Given the description of an element on the screen output the (x, y) to click on. 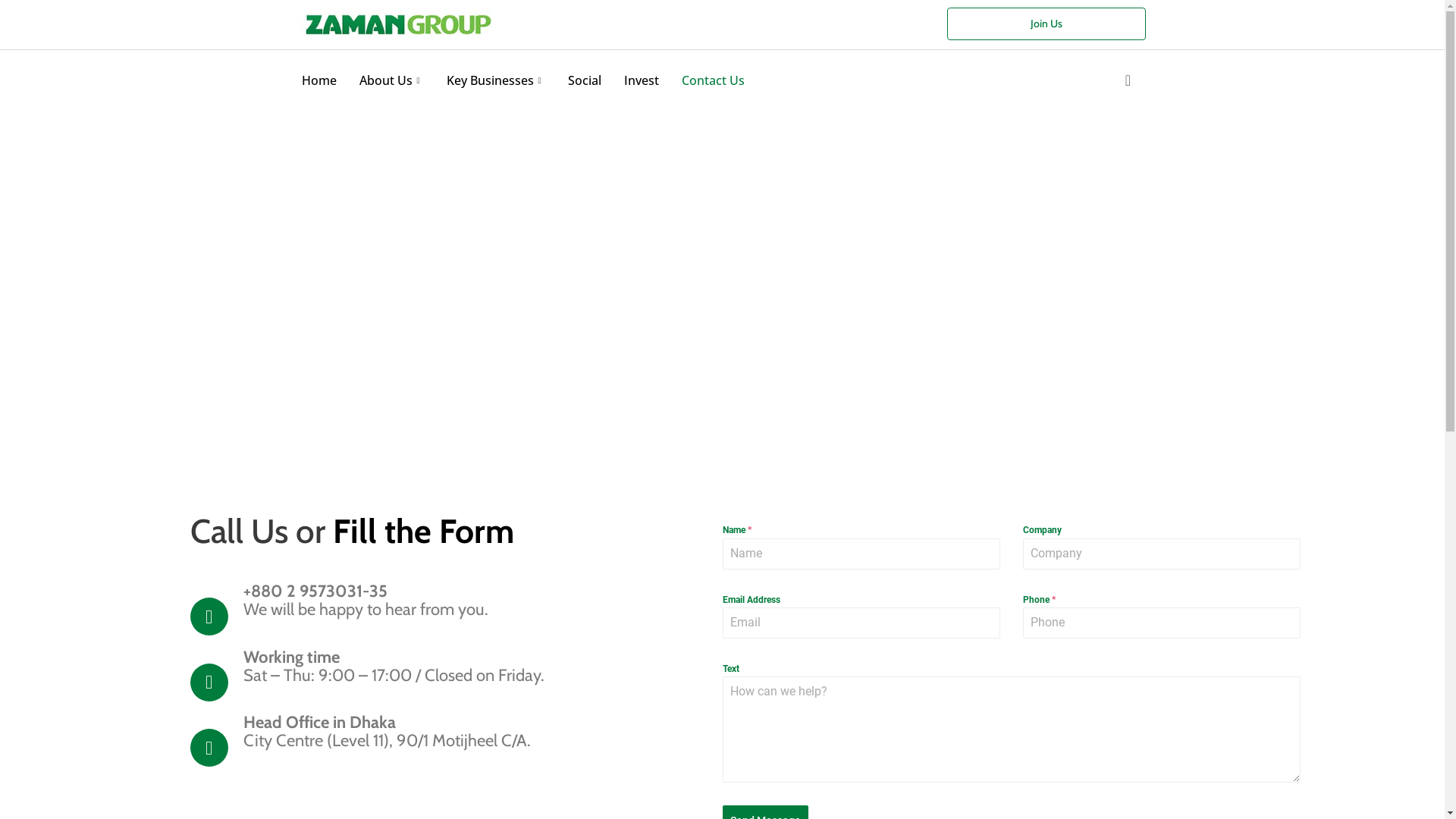
Read More Element type: text (757, 508)
Social Element type: text (584, 80)
Invest Element type: text (641, 80)
Contact Us Element type: text (713, 80)
Join Us Element type: text (1046, 23)
About Us Element type: text (390, 80)
Key Businesses Element type: text (495, 80)
Home Element type: text (318, 80)
